Given the description of an element on the screen output the (x, y) to click on. 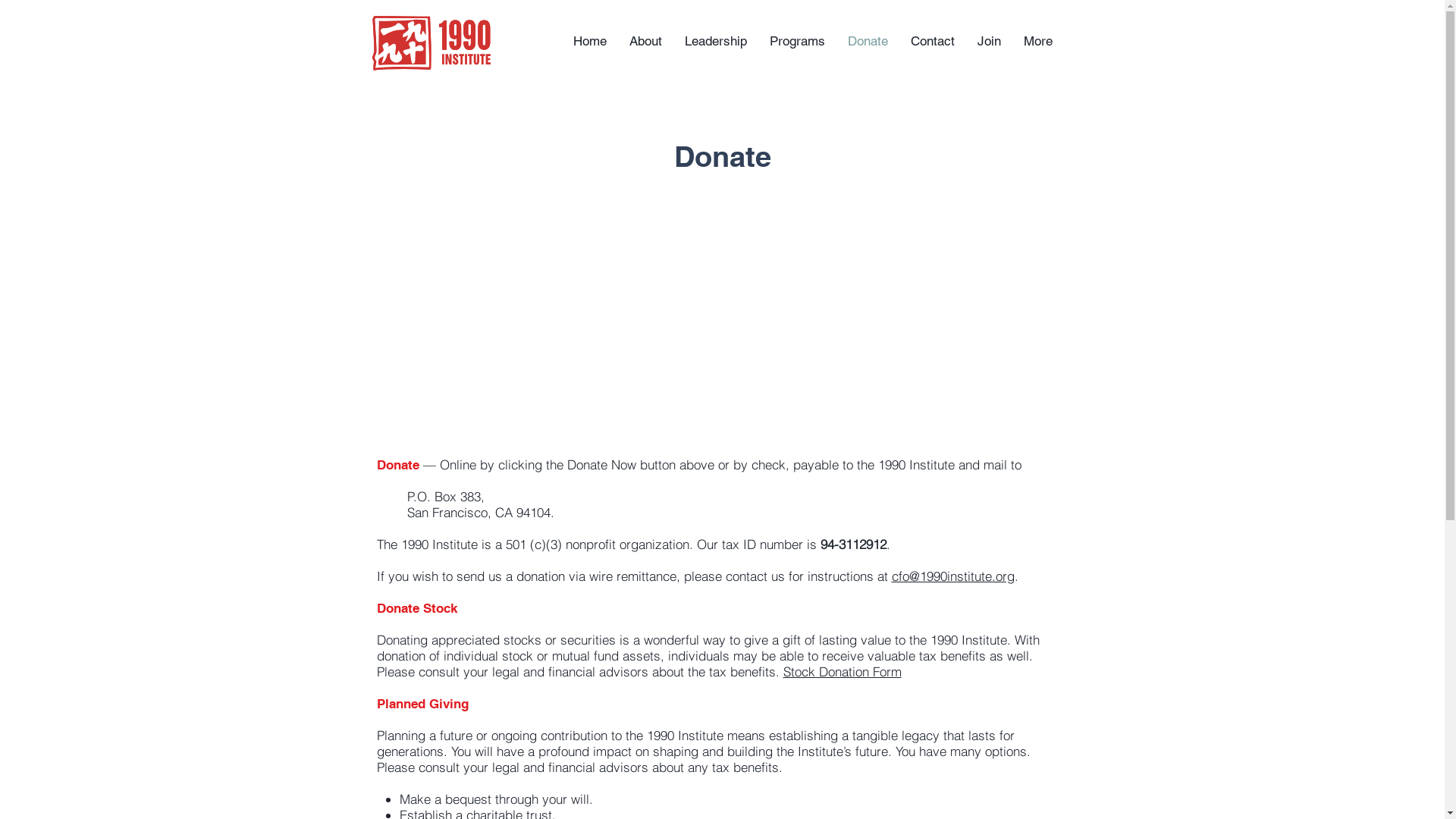
Join Element type: text (989, 40)
cfo@1990institute.org Element type: text (952, 575)
Embedded Content Element type: hover (721, 423)
Donate Element type: text (866, 40)
Stock Donation Form Element type: text (841, 671)
Home Element type: text (589, 40)
About Element type: text (644, 40)
Contact Element type: text (932, 40)
Programs Element type: text (797, 40)
Leadership Element type: text (715, 40)
